Given the description of an element on the screen output the (x, y) to click on. 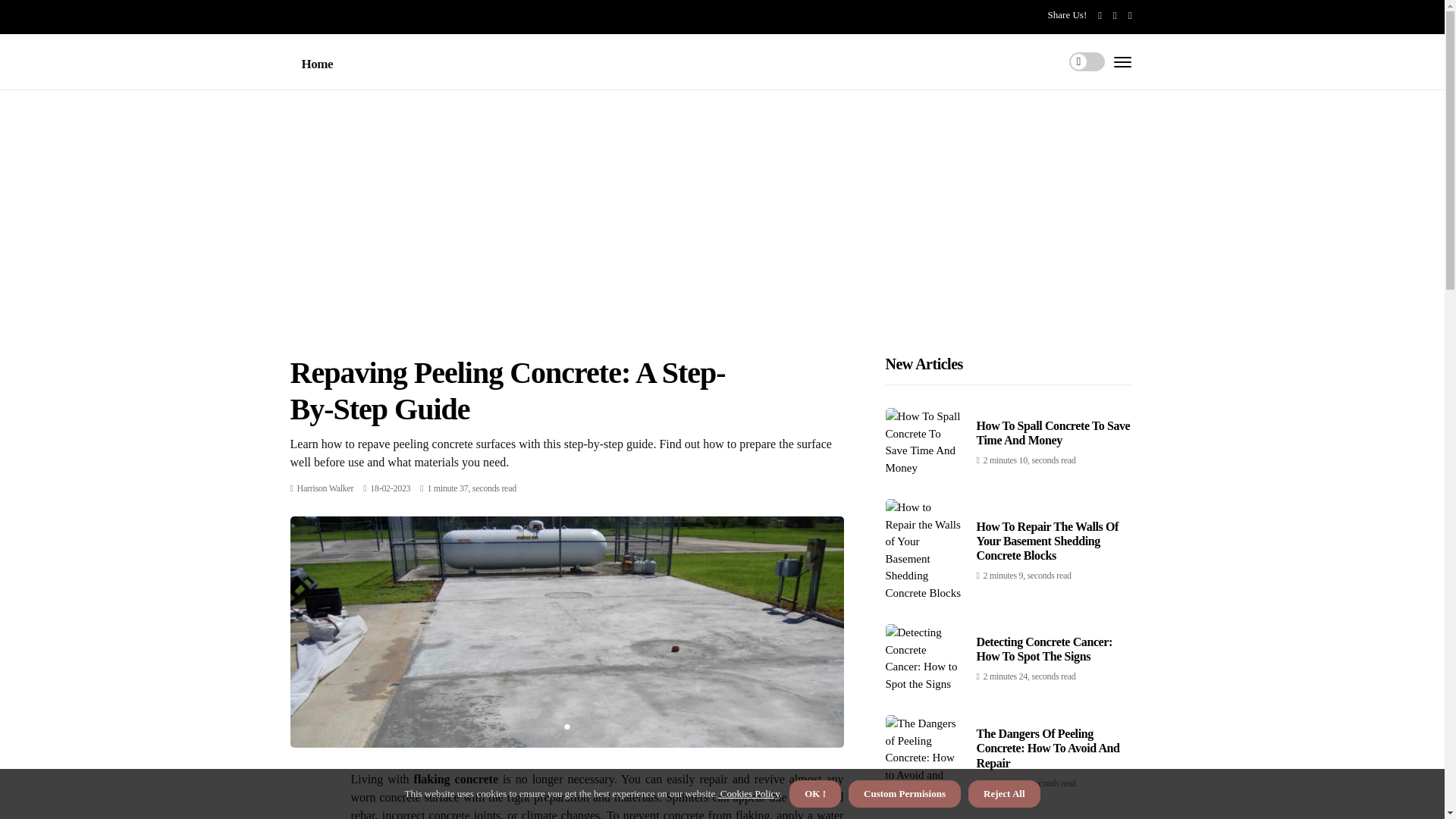
Detecting Concrete Cancer: How To Spot The Signs (1044, 648)
How To Spall Concrete To Save Time And Money (1053, 432)
Posts by Harrison Walker (325, 488)
The Dangers Of Peeling Concrete: How To Avoid And Repair (1047, 748)
Harrison Walker (325, 488)
